Given the description of an element on the screen output the (x, y) to click on. 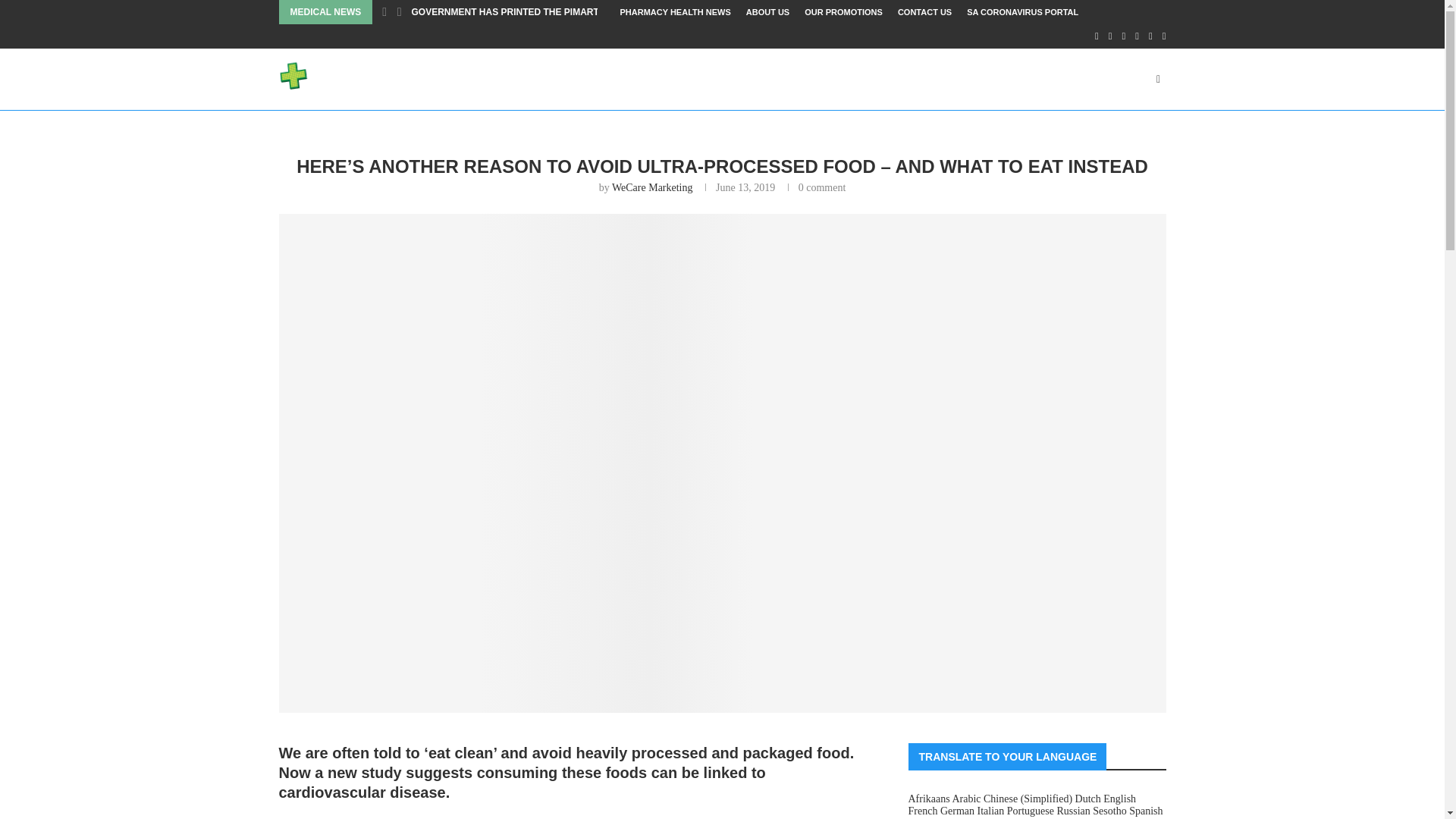
OUR PROMOTIONS (843, 12)
Afrikaans (929, 798)
PHARMACY HEALTH NEWS (675, 12)
ABOUT US (767, 12)
Arabic (965, 798)
